Given the description of an element on the screen output the (x, y) to click on. 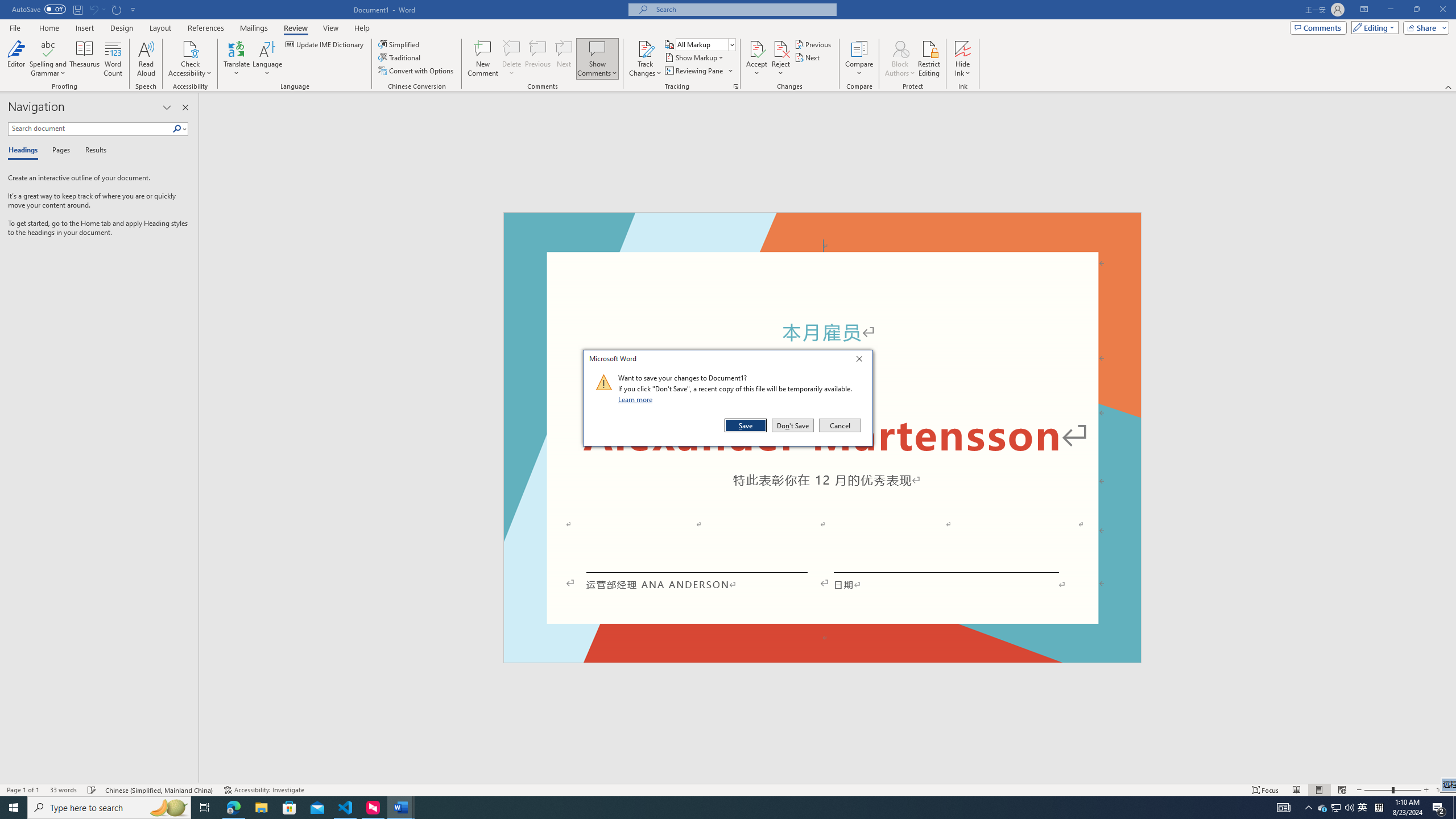
Can't Undo (92, 9)
File Tab (15, 27)
Page Number Page 1 of 1 (22, 790)
Headings (25, 150)
View (330, 28)
Spelling and Grammar Check Checking (91, 790)
Check Accessibility (1322, 807)
Language (189, 48)
Microsoft Store (267, 58)
Class: NetUIScrollBar (289, 807)
Track Changes (1450, 437)
Block Authors (644, 58)
Update IME Dictionary... (900, 48)
